Given the description of an element on the screen output the (x, y) to click on. 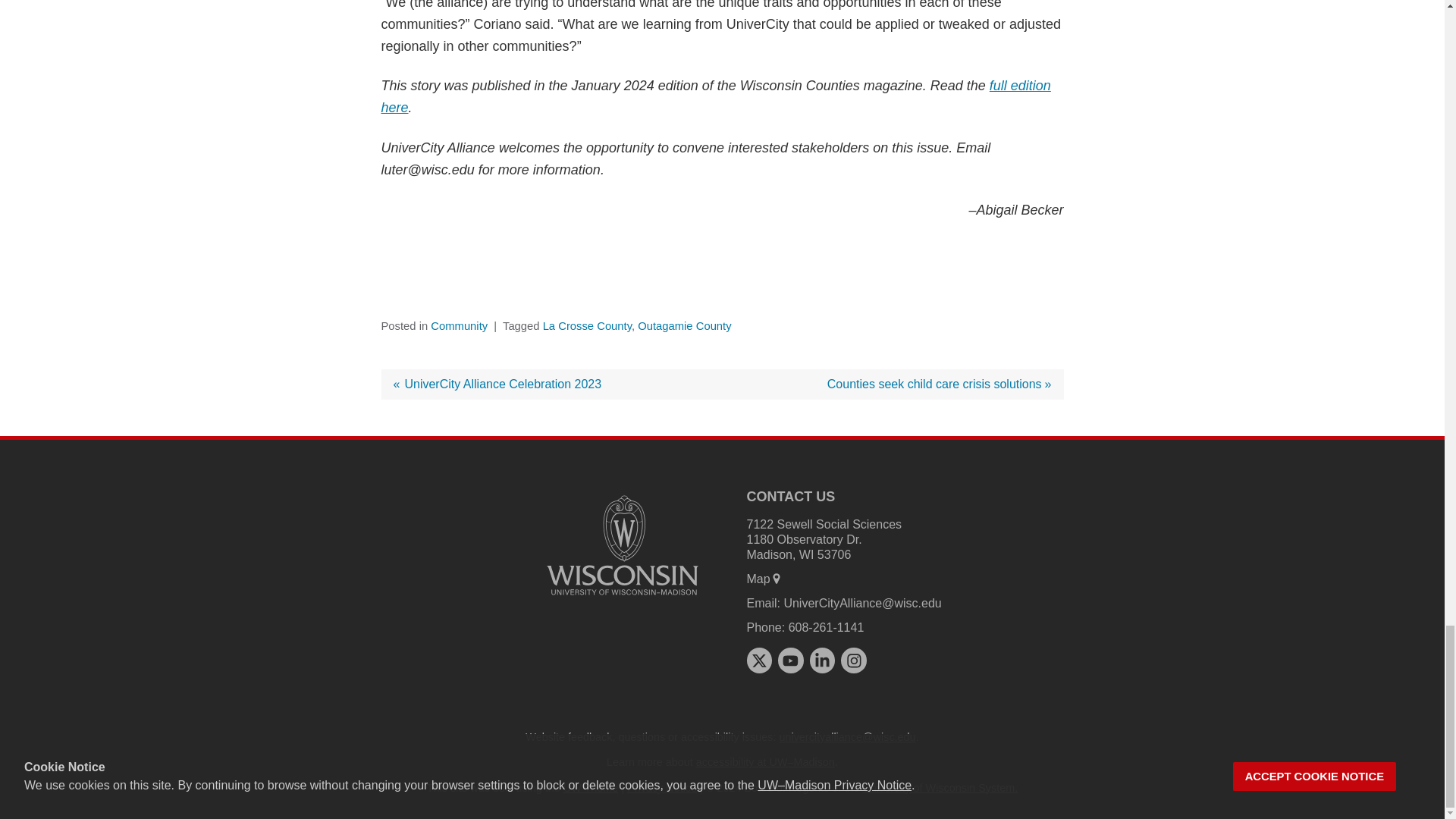
Outagamie County (683, 326)
x twitter (759, 660)
full edition here (714, 96)
map marker (776, 578)
Community (458, 326)
La Crosse County (587, 326)
instagram (497, 383)
University logo that links to main university website (853, 660)
linkedin (939, 383)
youtube (621, 544)
University logo that links to main university website (821, 660)
